Given the description of an element on the screen output the (x, y) to click on. 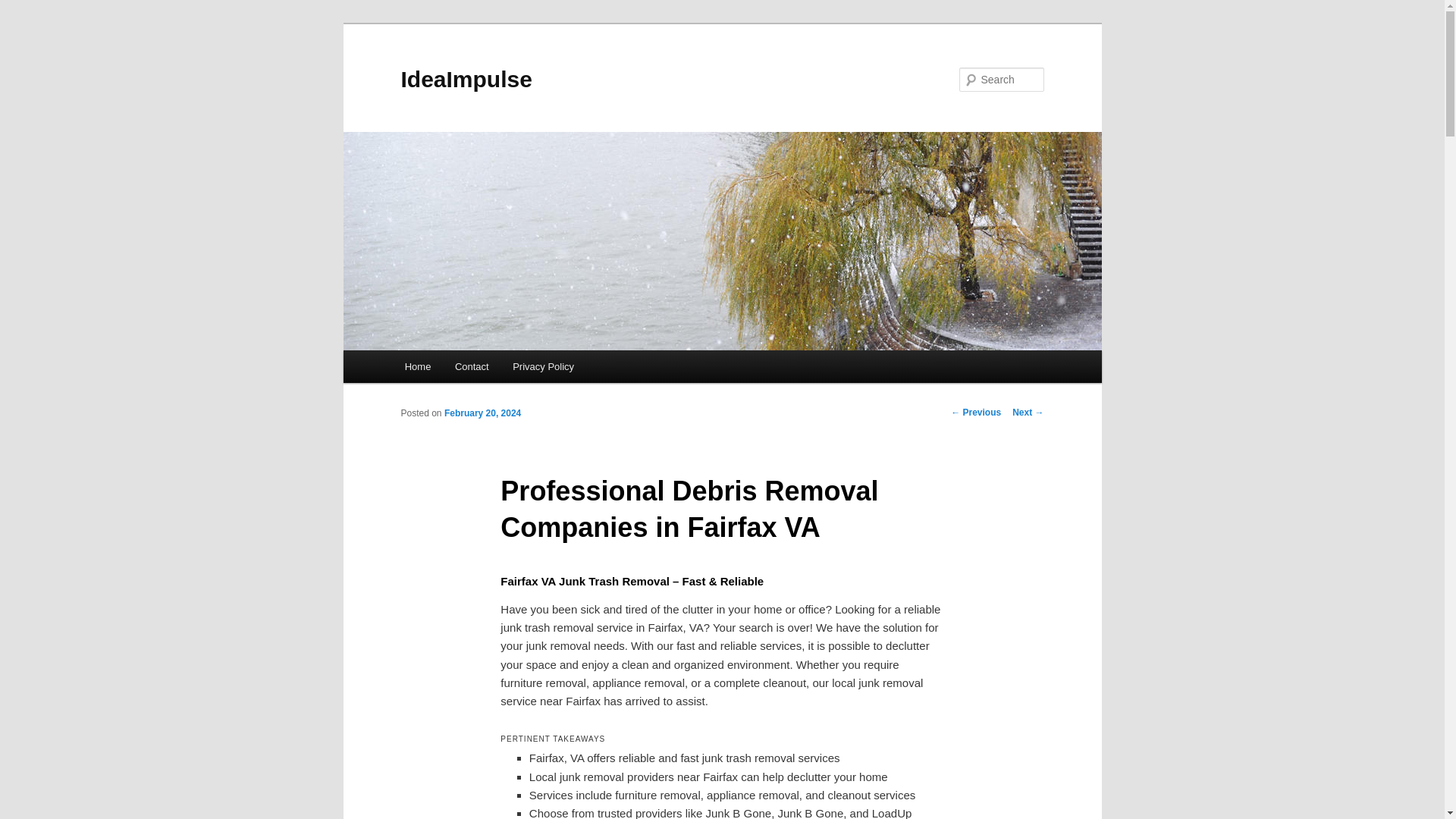
11:17 pm (482, 412)
Home (417, 366)
Privacy Policy (542, 366)
IdeaImpulse (465, 78)
Contact (471, 366)
February 20, 2024 (482, 412)
Search (24, 8)
